Given the description of an element on the screen output the (x, y) to click on. 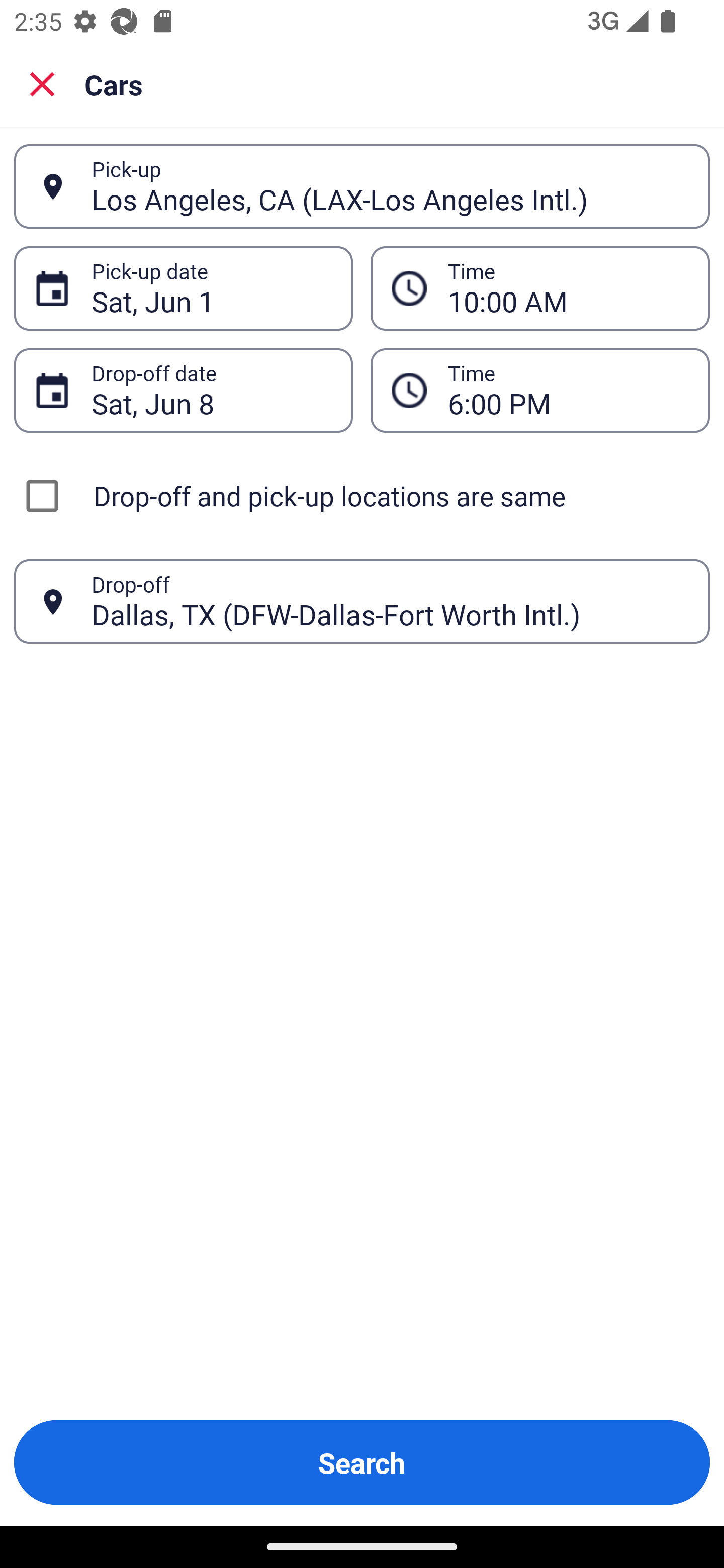
Close search screen (41, 83)
Los Angeles, CA (LAX-Los Angeles Intl.) Pick-up (361, 186)
Los Angeles, CA (LAX-Los Angeles Intl.) (389, 186)
Sat, Jun 1 Pick-up date (183, 288)
10:00 AM (540, 288)
Sat, Jun 1 (211, 288)
10:00 AM (568, 288)
Sat, Jun 8 Drop-off date (183, 390)
6:00 PM (540, 390)
Sat, Jun 8 (211, 390)
6:00 PM (568, 390)
Drop-off and pick-up locations are same (361, 495)
Dallas, TX (DFW-Dallas-Fort Worth Intl.) Drop-off (361, 601)
Dallas, TX (DFW-Dallas-Fort Worth Intl.) (389, 601)
Search Button Search (361, 1462)
